Given the description of an element on the screen output the (x, y) to click on. 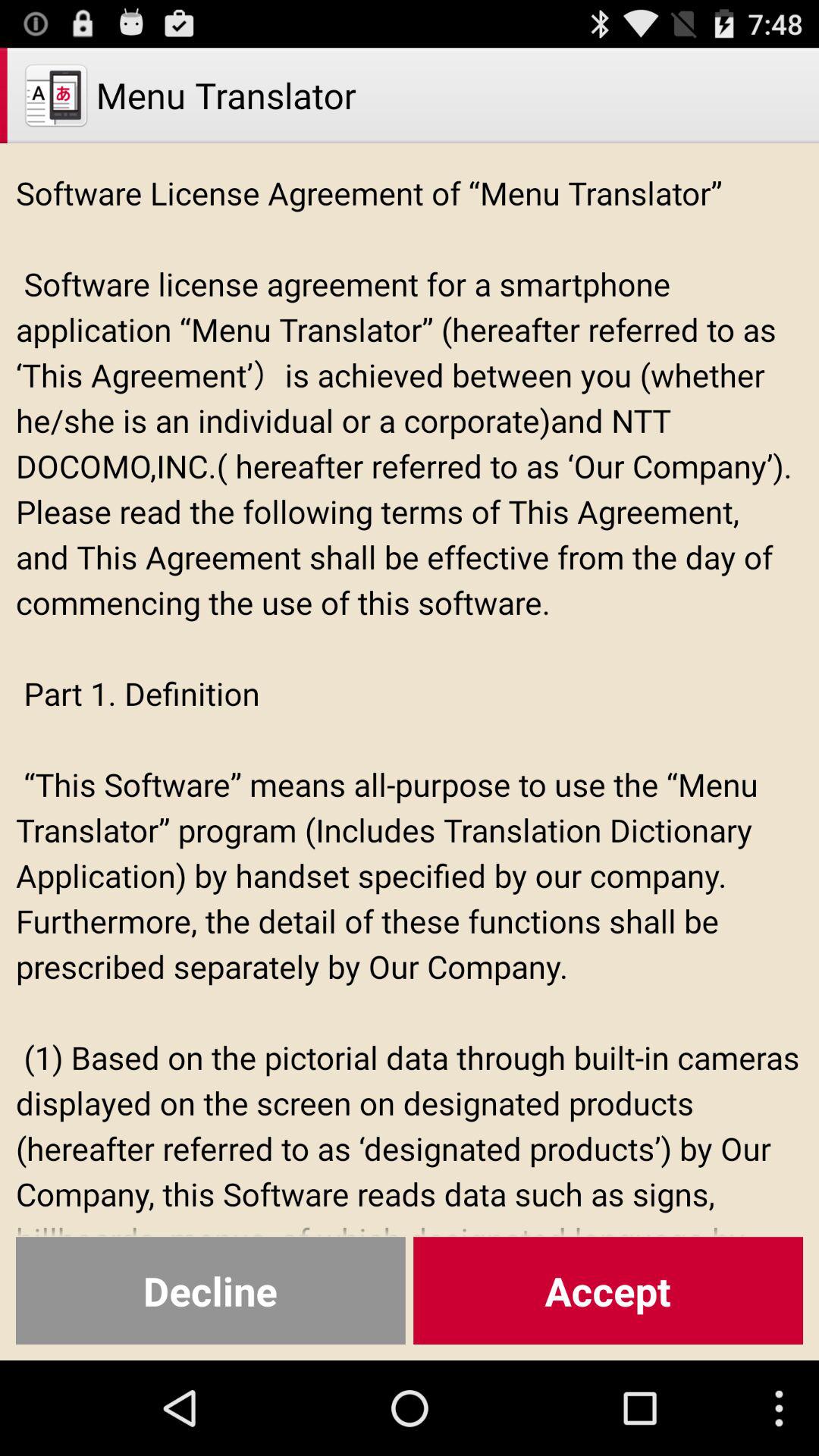
swipe until the decline button (210, 1290)
